Given the description of an element on the screen output the (x, y) to click on. 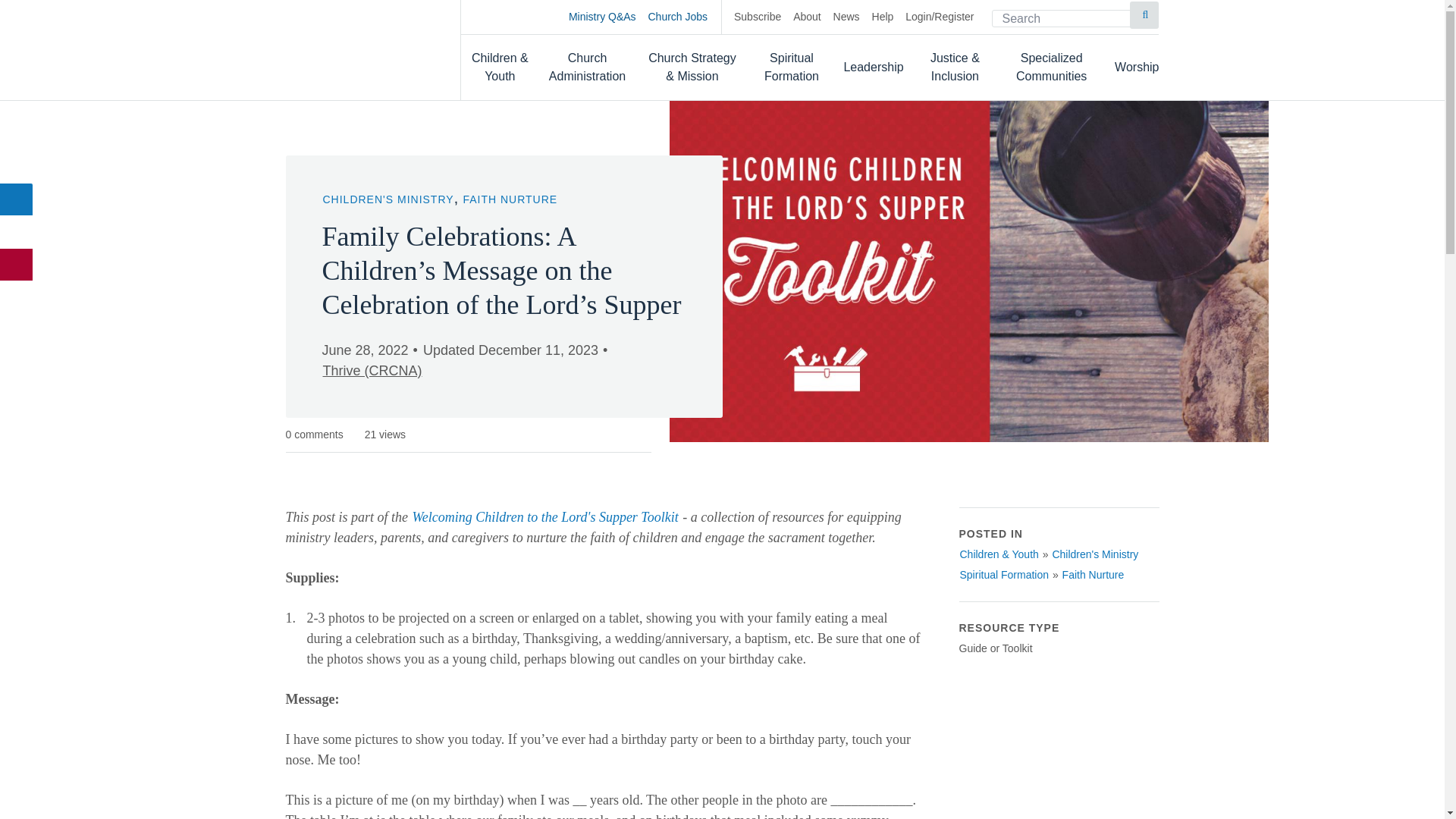
View user profile. (371, 370)
Leadership (872, 67)
Welcoming Children to the Lord's Supper Toolkit (545, 516)
FAITH NURTURE (509, 199)
Submit (1143, 14)
Spiritual Formation (1003, 574)
Church Jobs (684, 17)
Submit (1143, 14)
Faith Nurture (1093, 574)
Share to X (16, 231)
Specialized Communities (1051, 67)
CHILDREN'S MINISTRY (387, 199)
Subscribe (756, 17)
Spiritual Formation (791, 67)
